Given the description of an element on the screen output the (x, y) to click on. 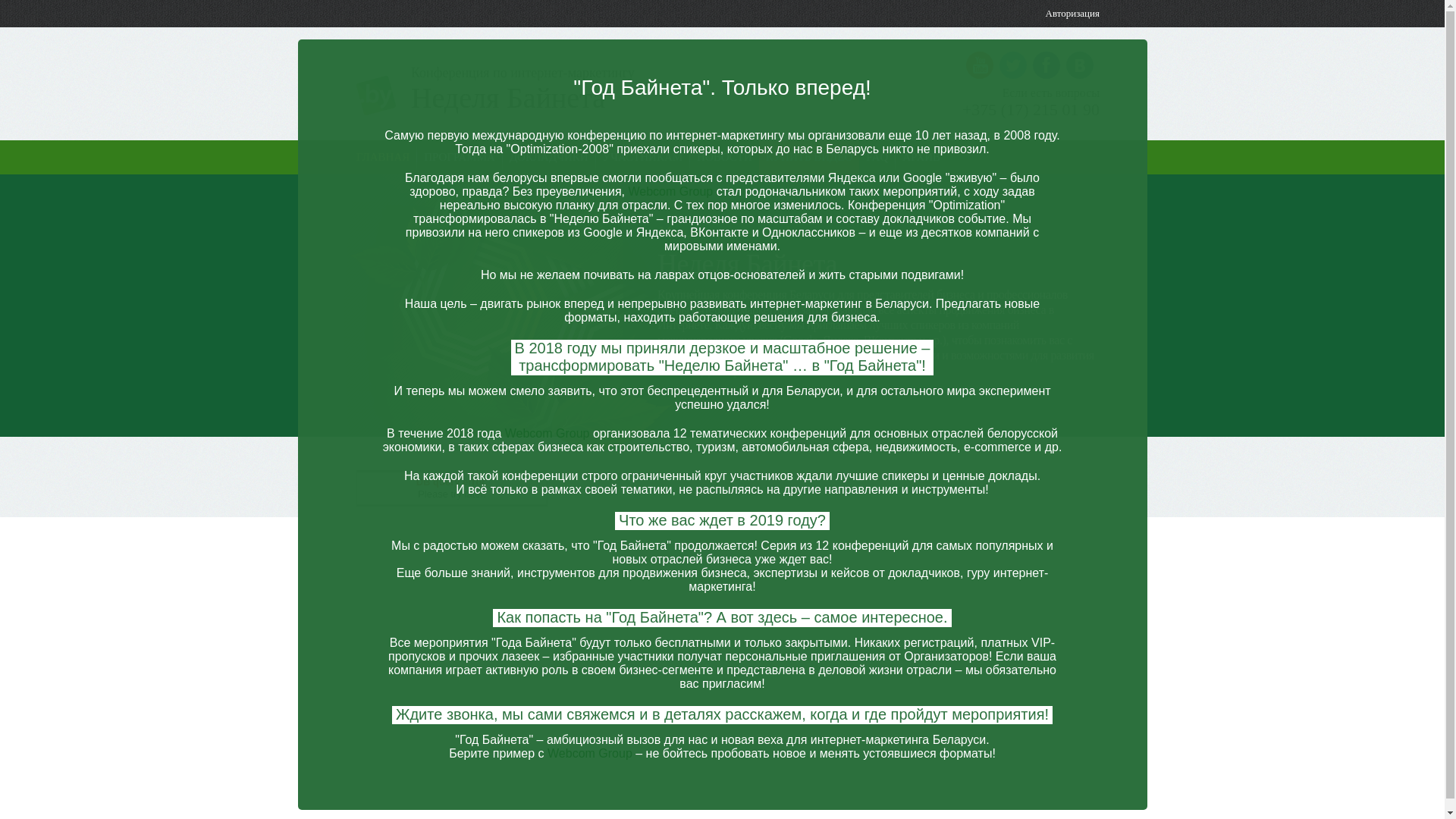
+375 (17) 215 01 90 Element type: text (1030, 109)
Webcom Group Element type: text (669, 191)
Webcom Group Element type: text (547, 432)
FAQ Element type: text (877, 156)
Webcom Group Element type: text (589, 752)
